Given the description of an element on the screen output the (x, y) to click on. 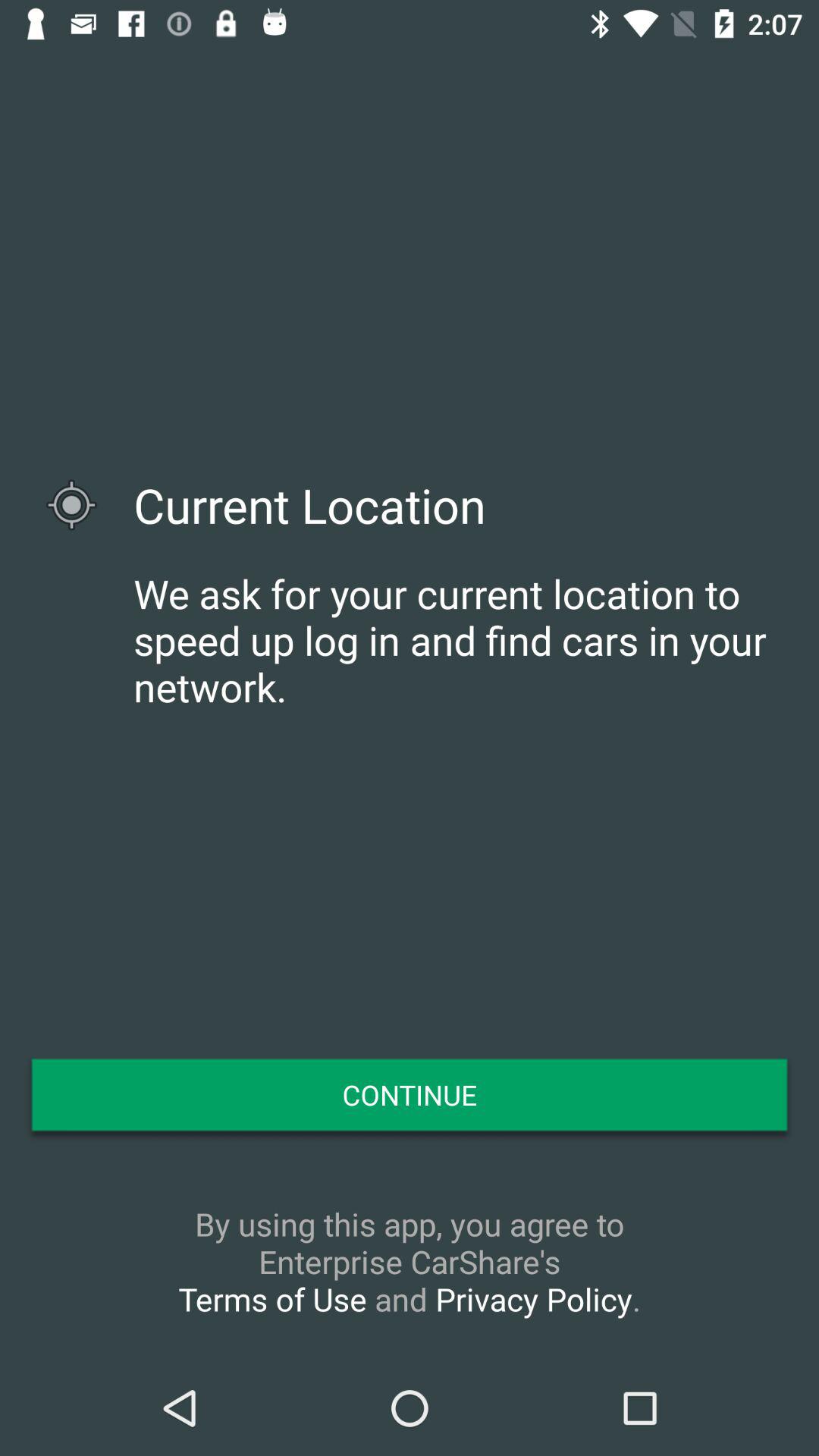
choose icon below continue item (409, 1261)
